Given the description of an element on the screen output the (x, y) to click on. 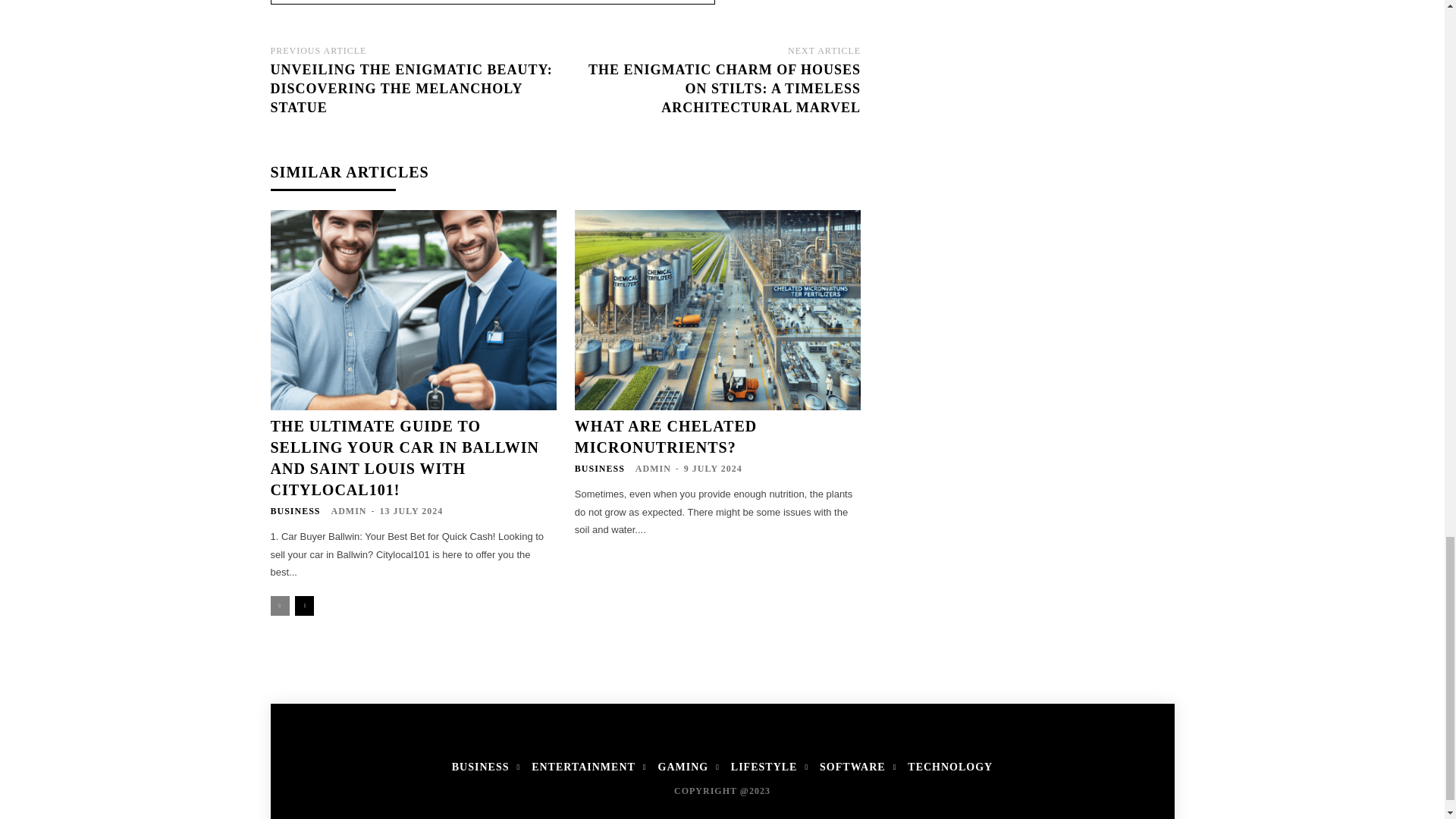
What Are Chelated Micronutrients? (717, 309)
BUSINESS (294, 510)
